Given the description of an element on the screen output the (x, y) to click on. 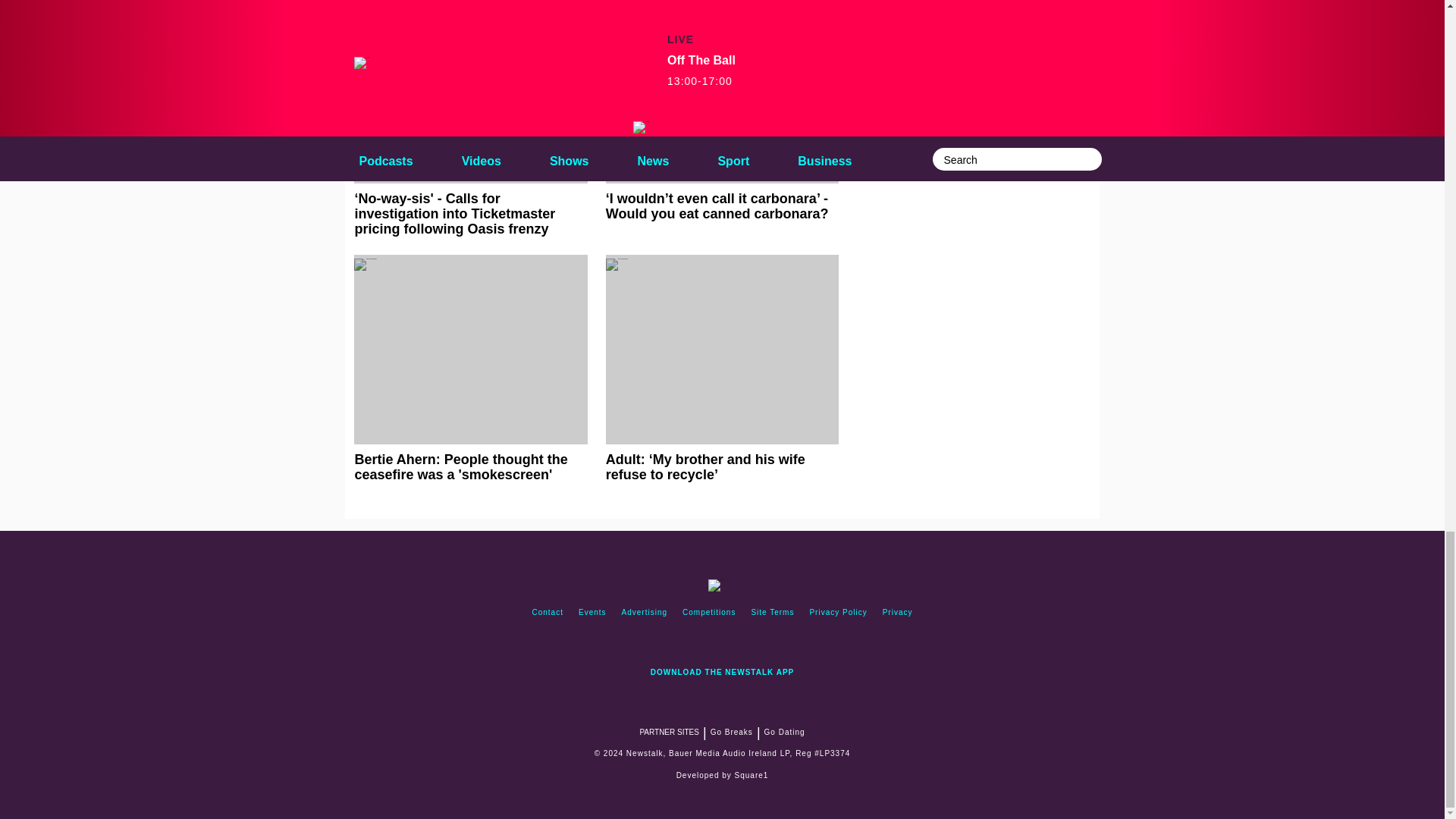
events (592, 612)
Privacy (897, 612)
contact (547, 612)
advertising (644, 612)
competitions (708, 612)
site terms (772, 612)
Privacy Policy (838, 612)
